Given the description of an element on the screen output the (x, y) to click on. 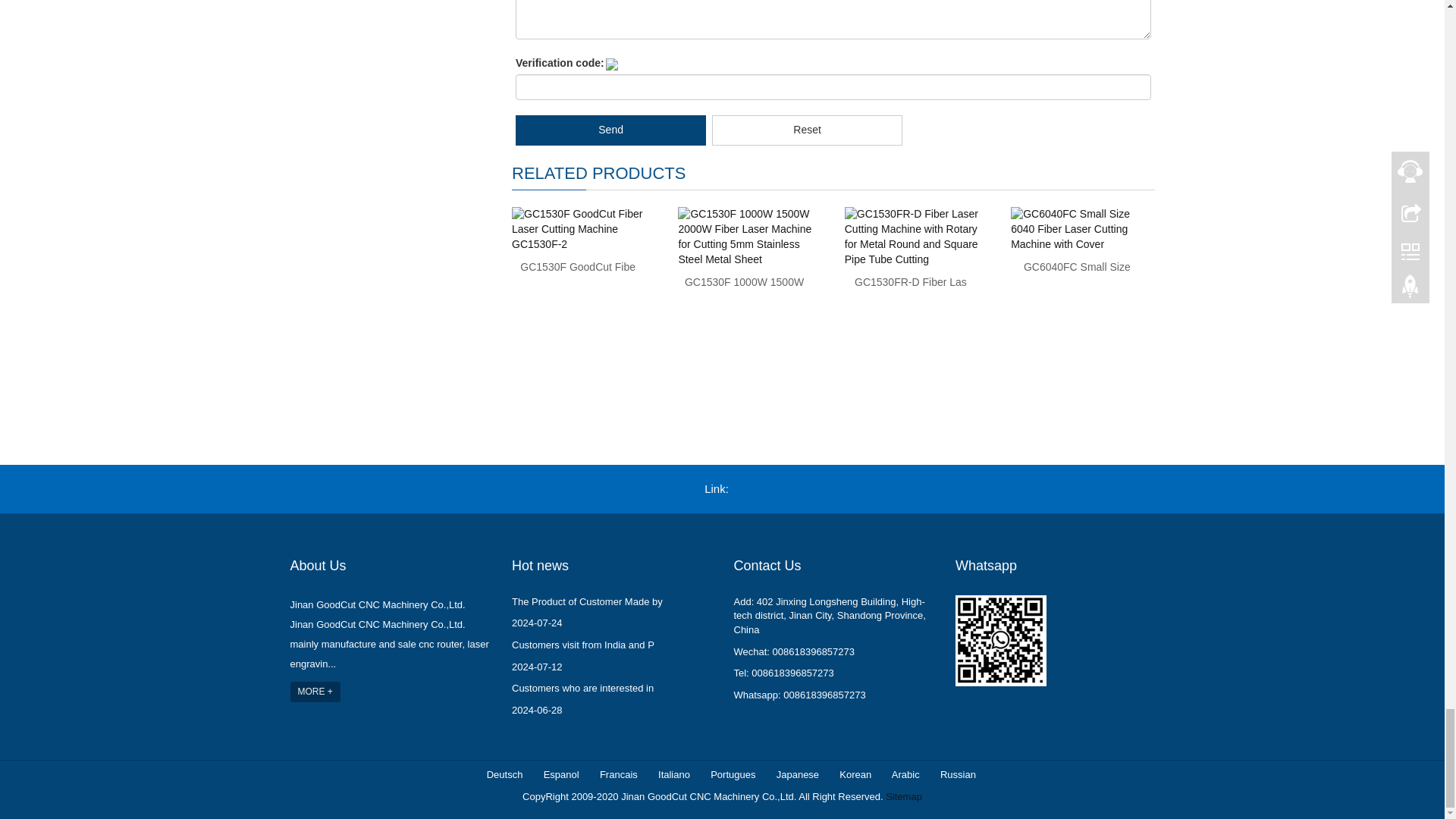
GC1530F GoodCut Fiber Laser Cutting Machine GC1530F-2 (576, 266)
The Product of Customer Made by GoodCut Wood Lathe Machine (587, 601)
